Given the description of an element on the screen output the (x, y) to click on. 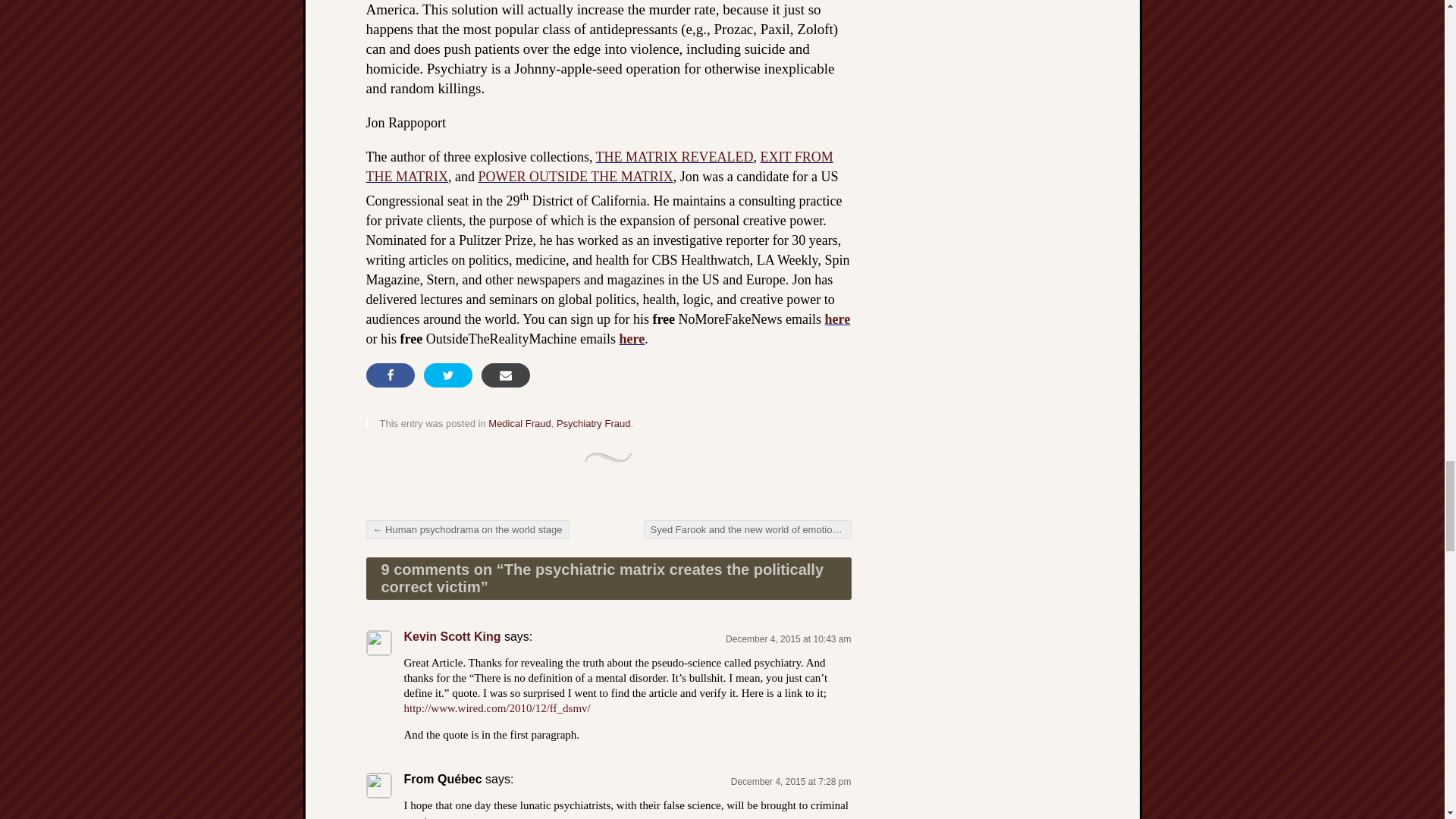
THE MATRIX REVEALED (674, 156)
here (632, 338)
Medical Fraud (518, 423)
here (837, 319)
POWER OUTSIDE THE MATRIX (574, 176)
EXIT FROM THE MATRIX (598, 166)
December 4, 2015 at 10:43 am (787, 638)
Share via Email (504, 375)
Share on Twitter (447, 375)
Psychiatry Fraud (593, 423)
